Given the description of an element on the screen output the (x, y) to click on. 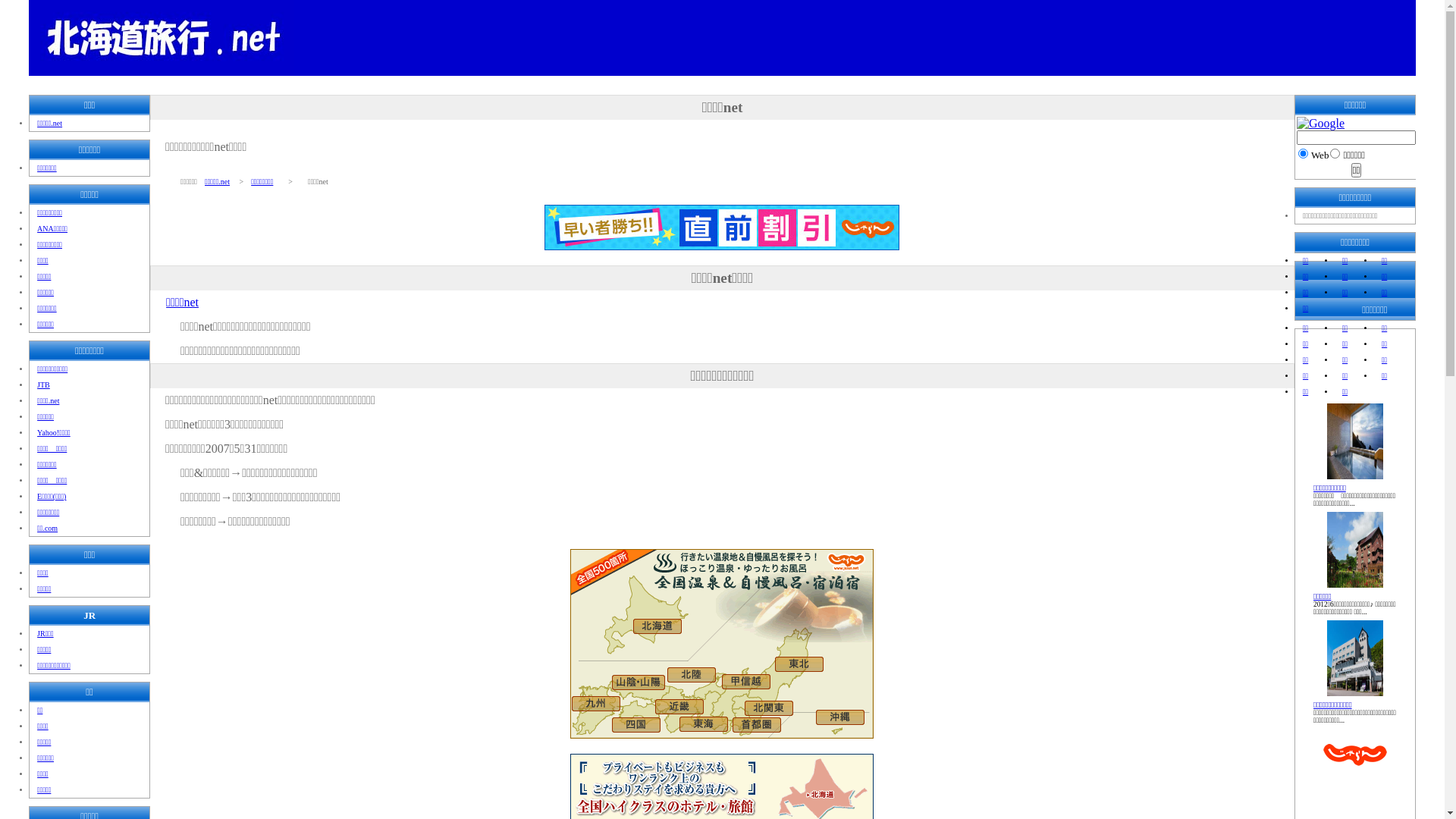
Advertisement Element type: hover (721, 81)
JTB Element type: text (43, 384)
